Given the description of an element on the screen output the (x, y) to click on. 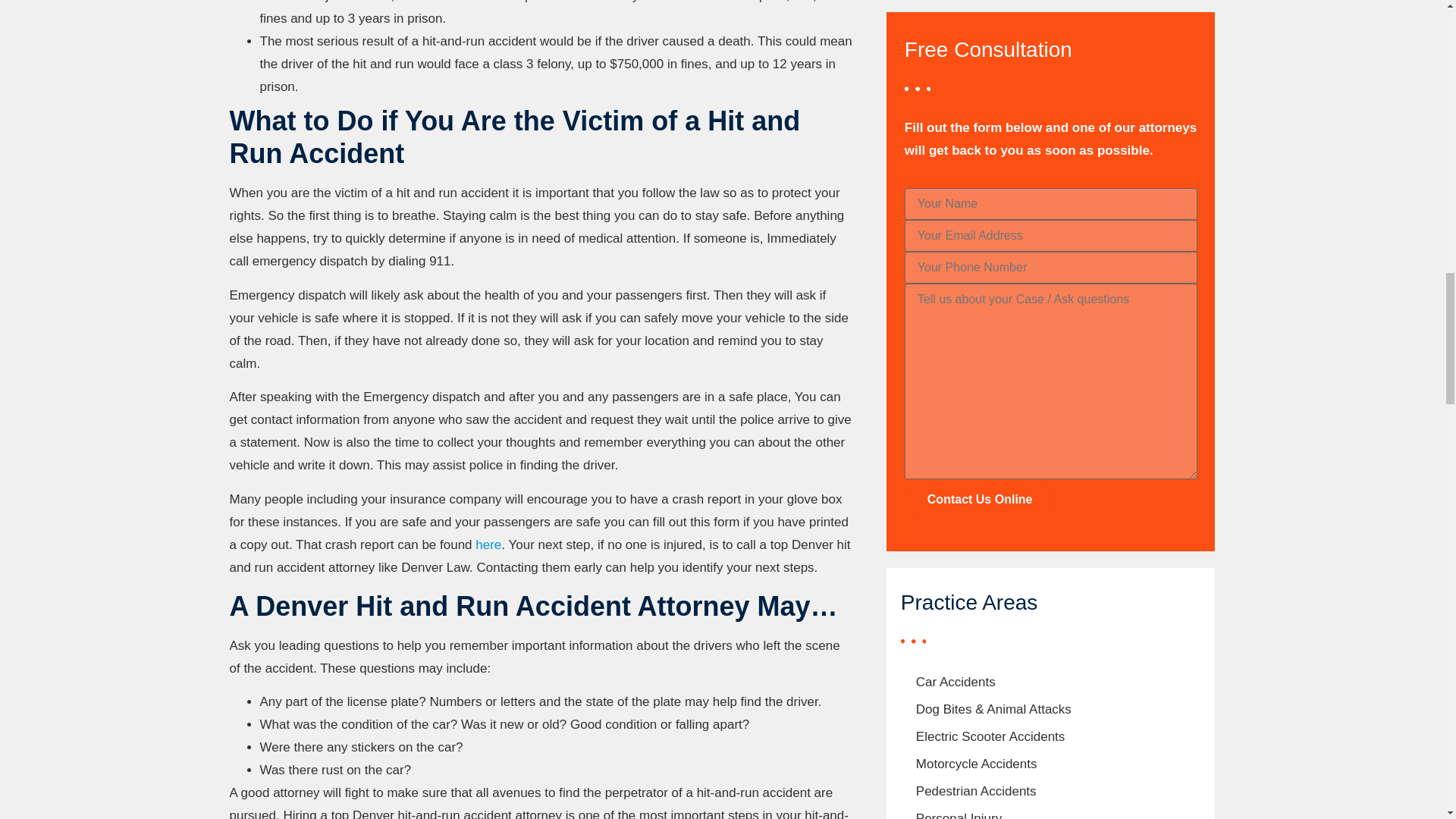
Contact Us Online (979, 499)
